Given the description of an element on the screen output the (x, y) to click on. 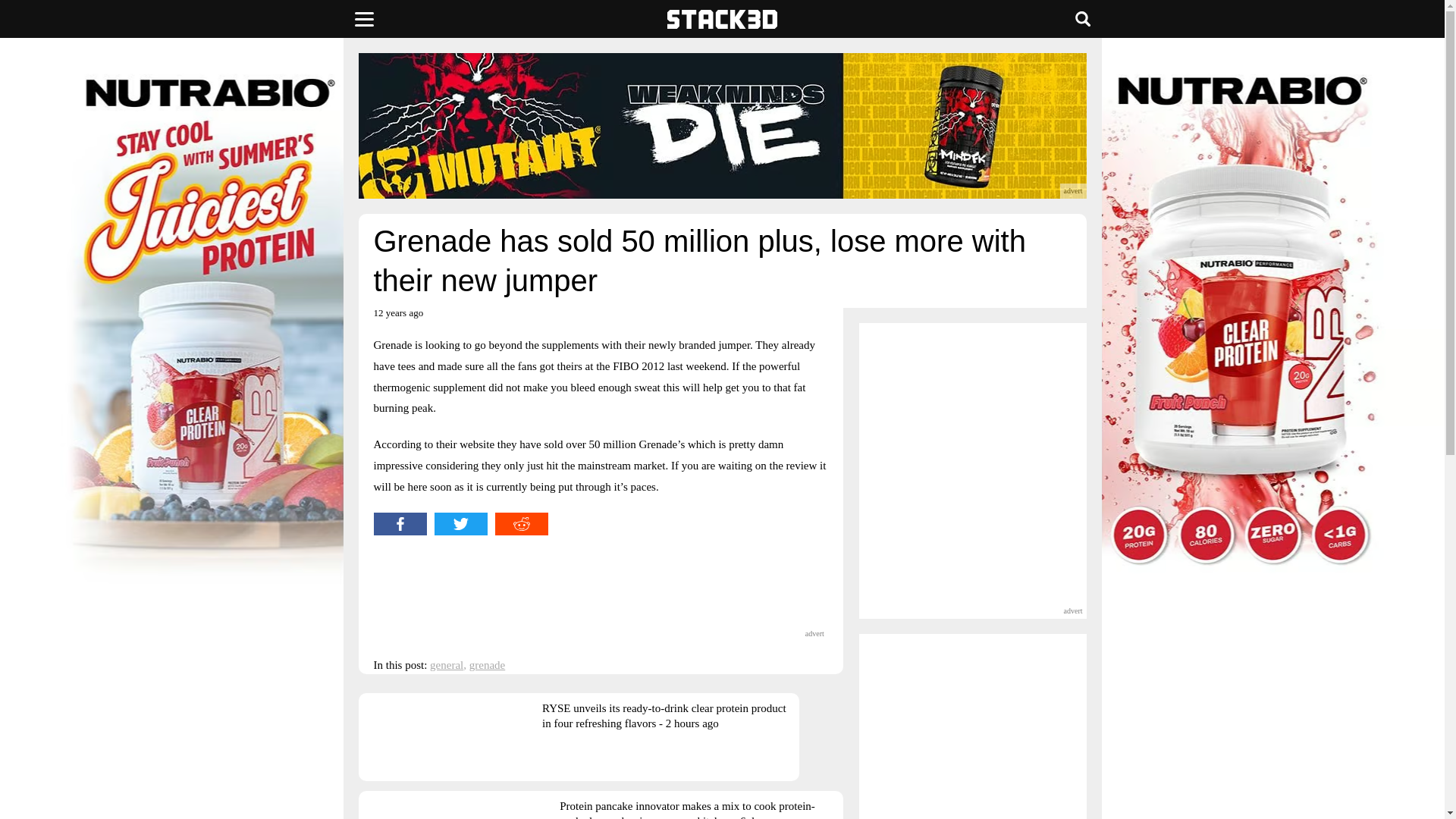
April 27th 2012 (398, 318)
grenade (486, 664)
general (446, 664)
